Given the description of an element on the screen output the (x, y) to click on. 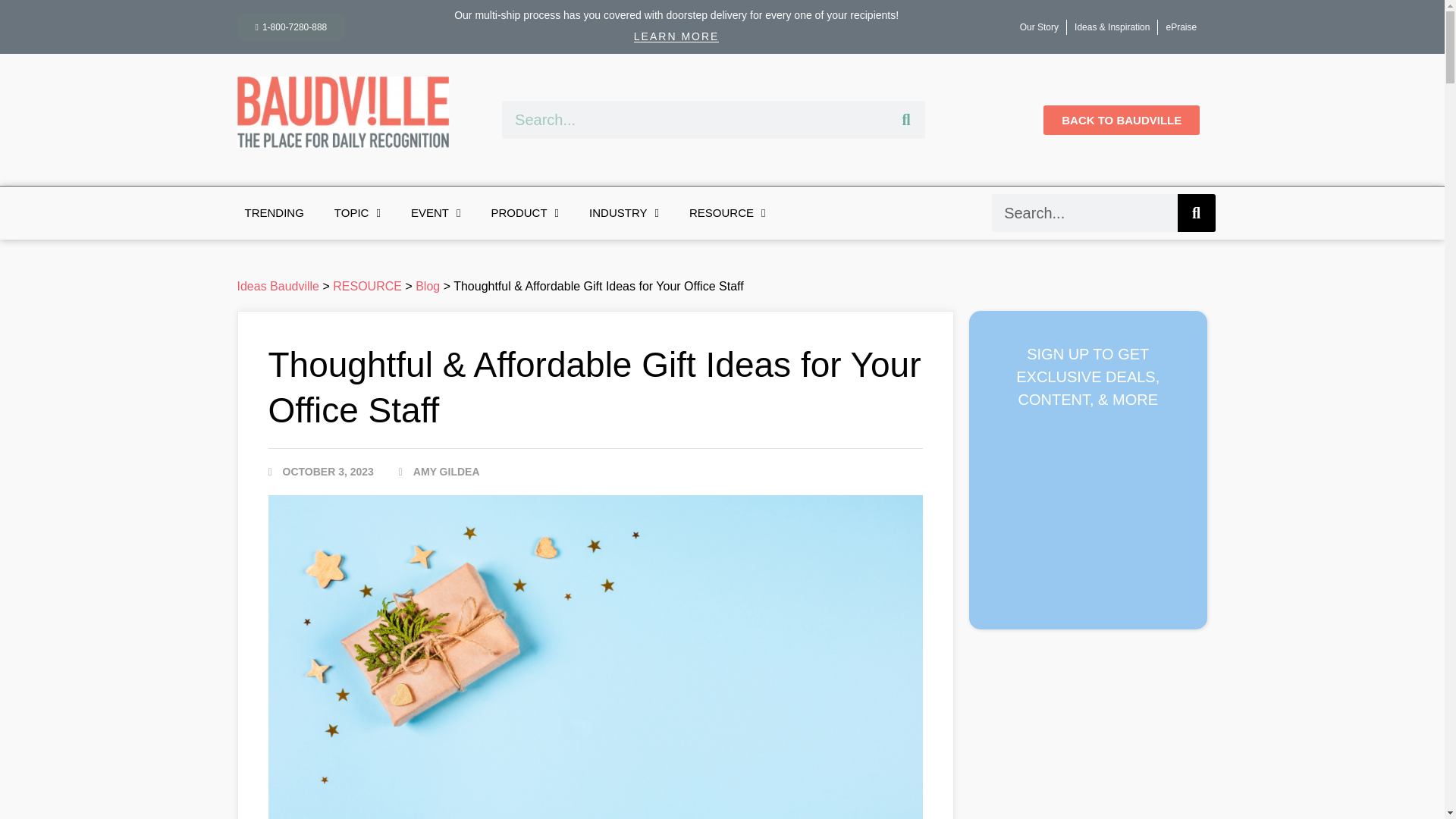
Go to Ideas Baudville. (276, 286)
Form 0 (1088, 510)
Go to the Blog Category archives. (426, 286)
Go to the RESOURCE Category archives. (367, 286)
1-800-7280-888 (290, 26)
Our Story (1038, 27)
LEARN MORE (676, 36)
ePraise (1180, 27)
